Given the description of an element on the screen output the (x, y) to click on. 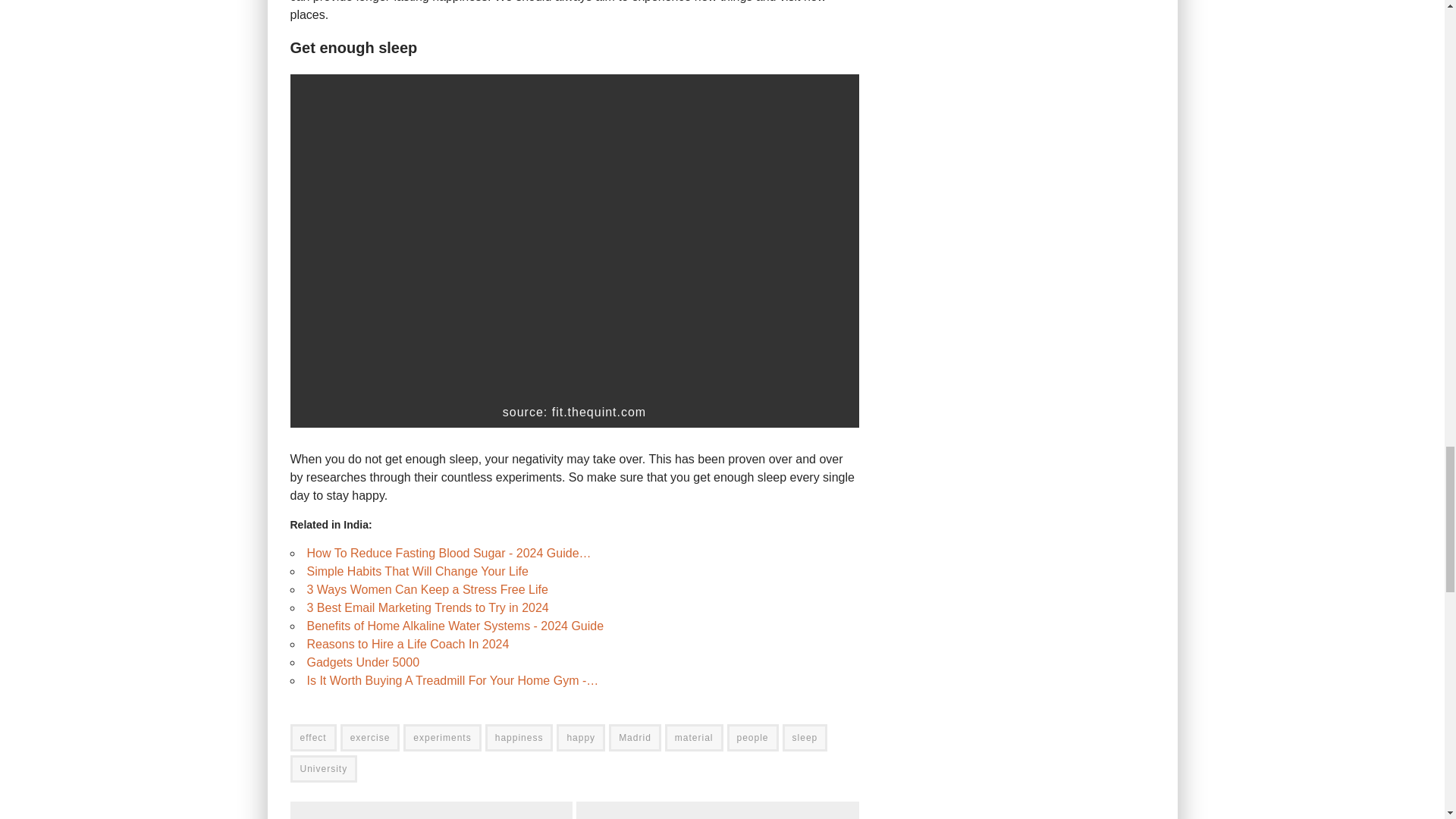
3 Ways Women Can Keep a Stress Free Life (426, 589)
3 Best Email Marketing Trends to Try in 2024 (426, 607)
Reasons to Hire a Life Coach In 2024 (406, 644)
Gadgets Under 5000 (362, 662)
happiness (518, 737)
experiments (441, 737)
effect (312, 737)
happy (580, 737)
Benefits of Home Alkaline Water Systems - 2024 Guide (454, 625)
Simple Habits That Will Change Your Life (416, 571)
